Given the description of an element on the screen output the (x, y) to click on. 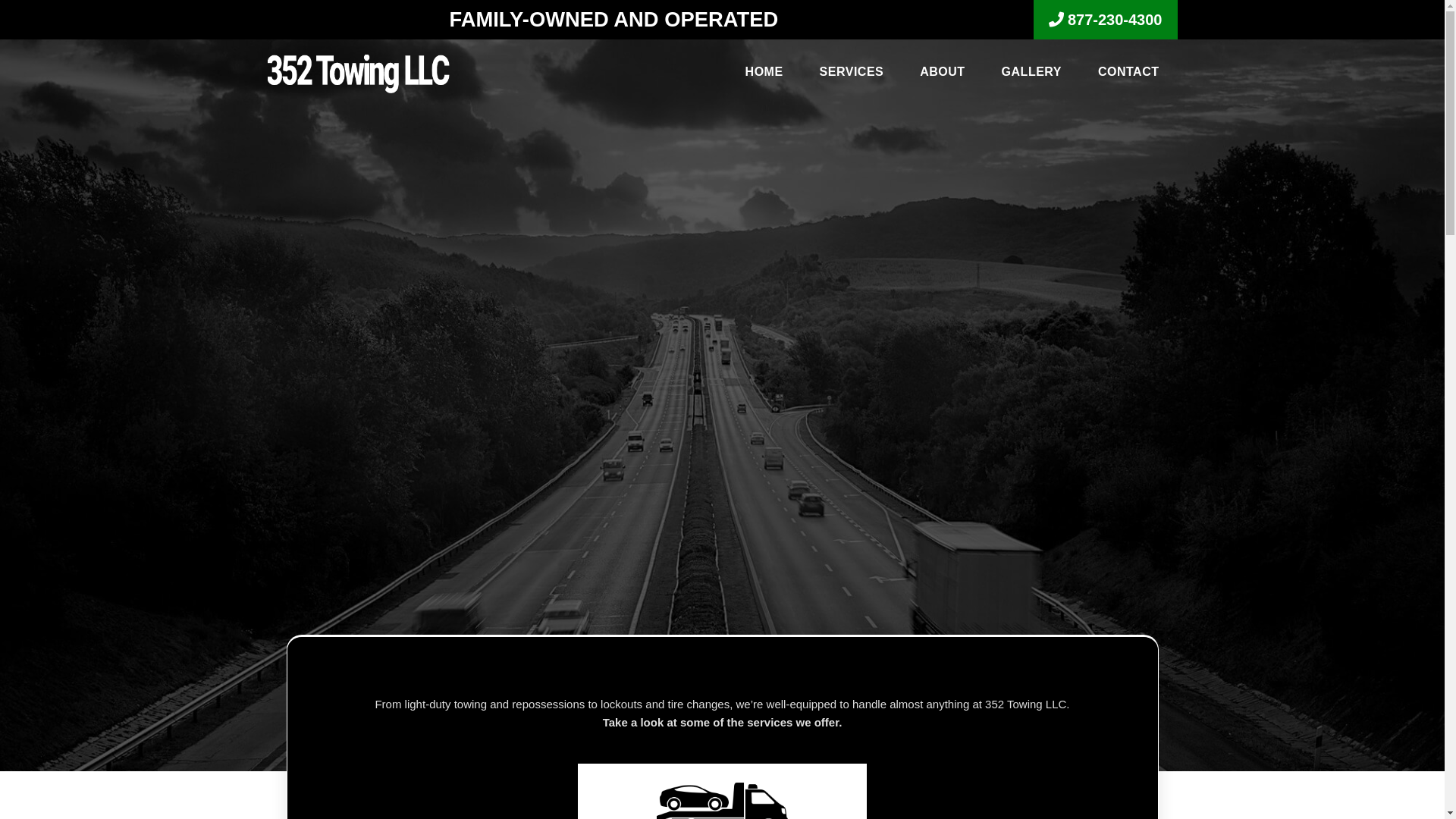
CONTACT Element type: text (1128, 73)
352 Towing LLC Element type: hover (357, 72)
SERVICES Element type: text (851, 73)
GALLERY Element type: text (1031, 73)
352 Towing LLC Element type: hover (357, 73)
877-230-4300 Element type: text (1105, 19)
ABOUT Element type: text (941, 73)
HOME Element type: text (764, 73)
